Given the description of an element on the screen output the (x, y) to click on. 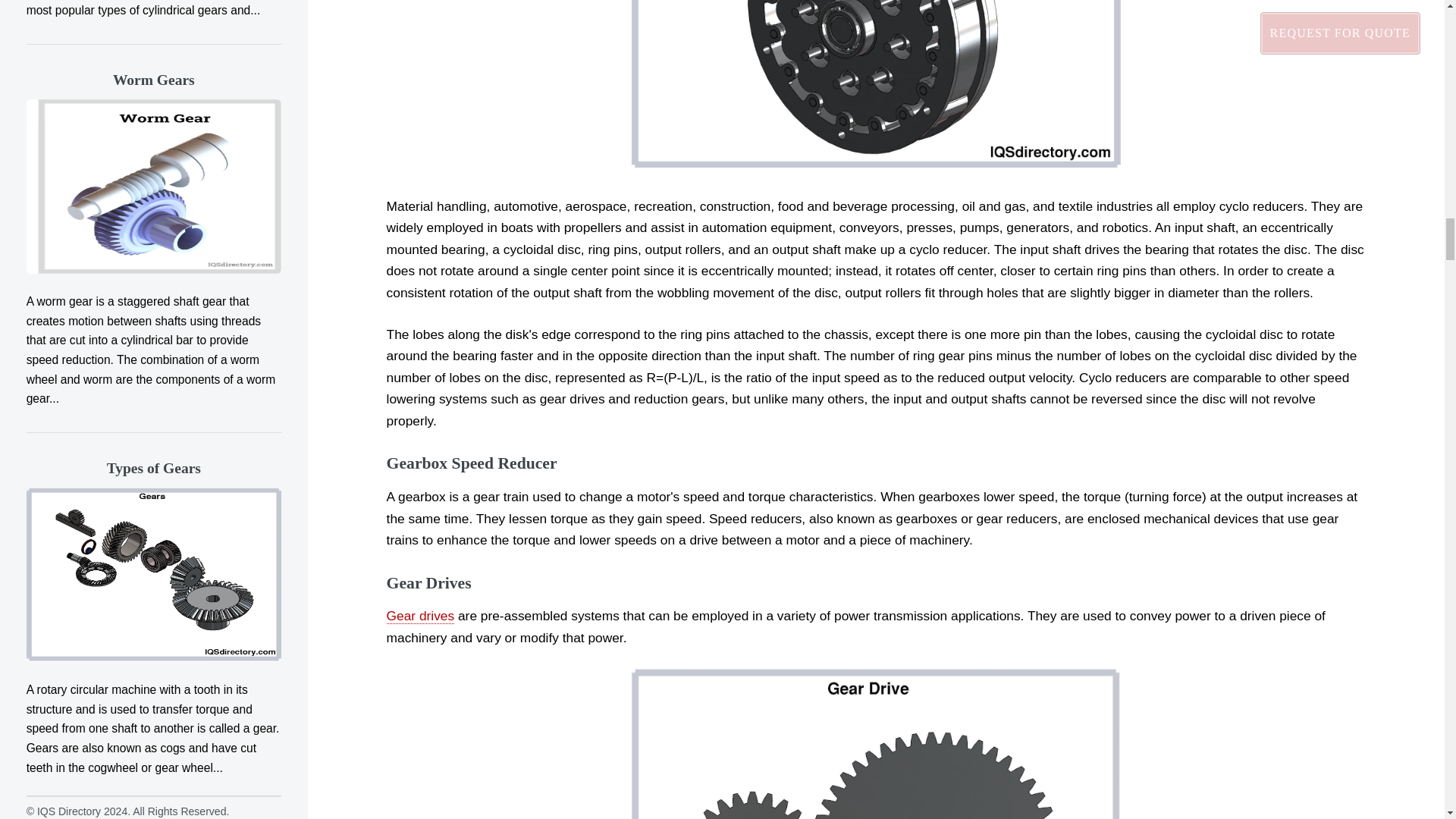
More Information on Gear Drives (420, 616)
Gear drives (420, 616)
Cyclo Reducer (875, 83)
Gear Drive (875, 743)
